Given the description of an element on the screen output the (x, y) to click on. 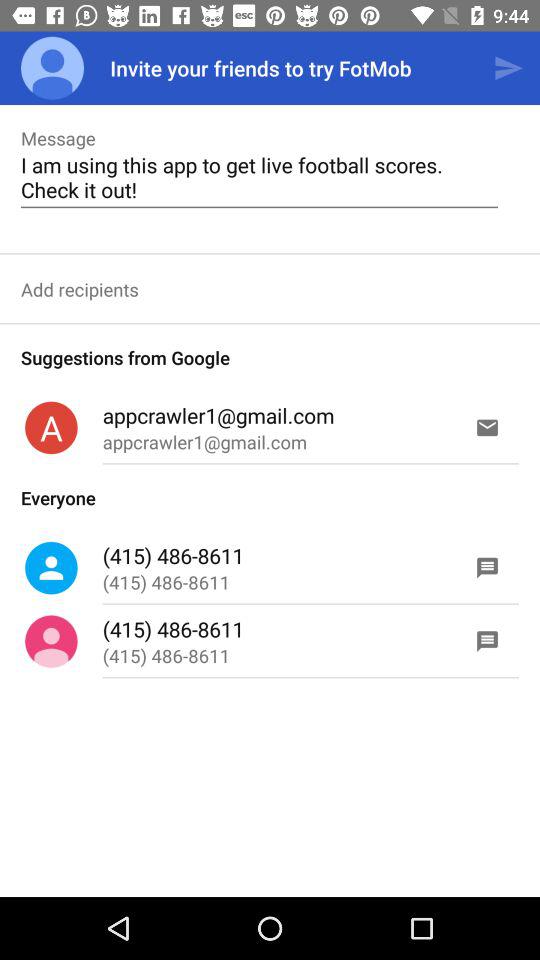
flip until i am using icon (259, 177)
